Given the description of an element on the screen output the (x, y) to click on. 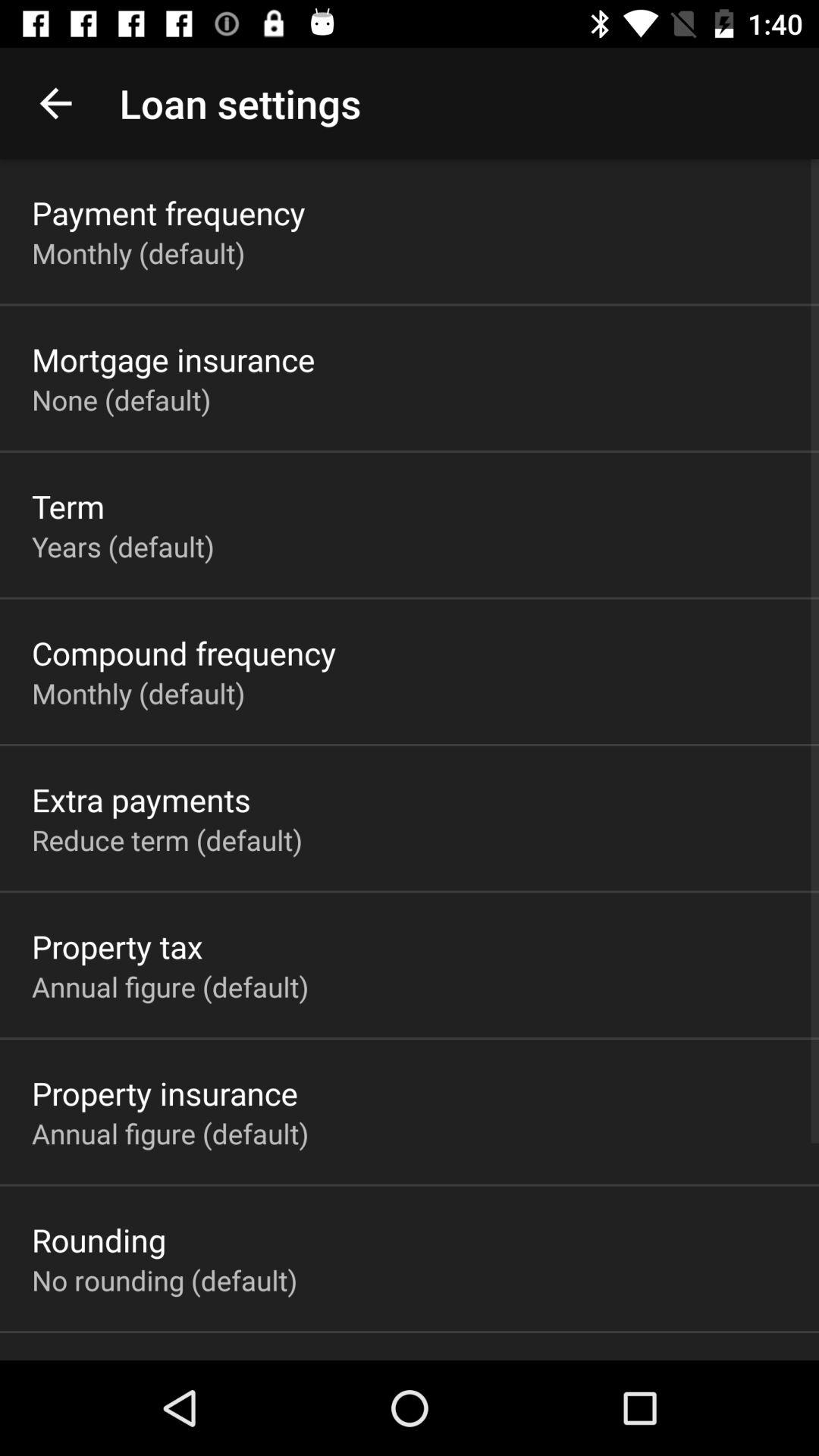
press app above term icon (121, 399)
